Given the description of an element on the screen output the (x, y) to click on. 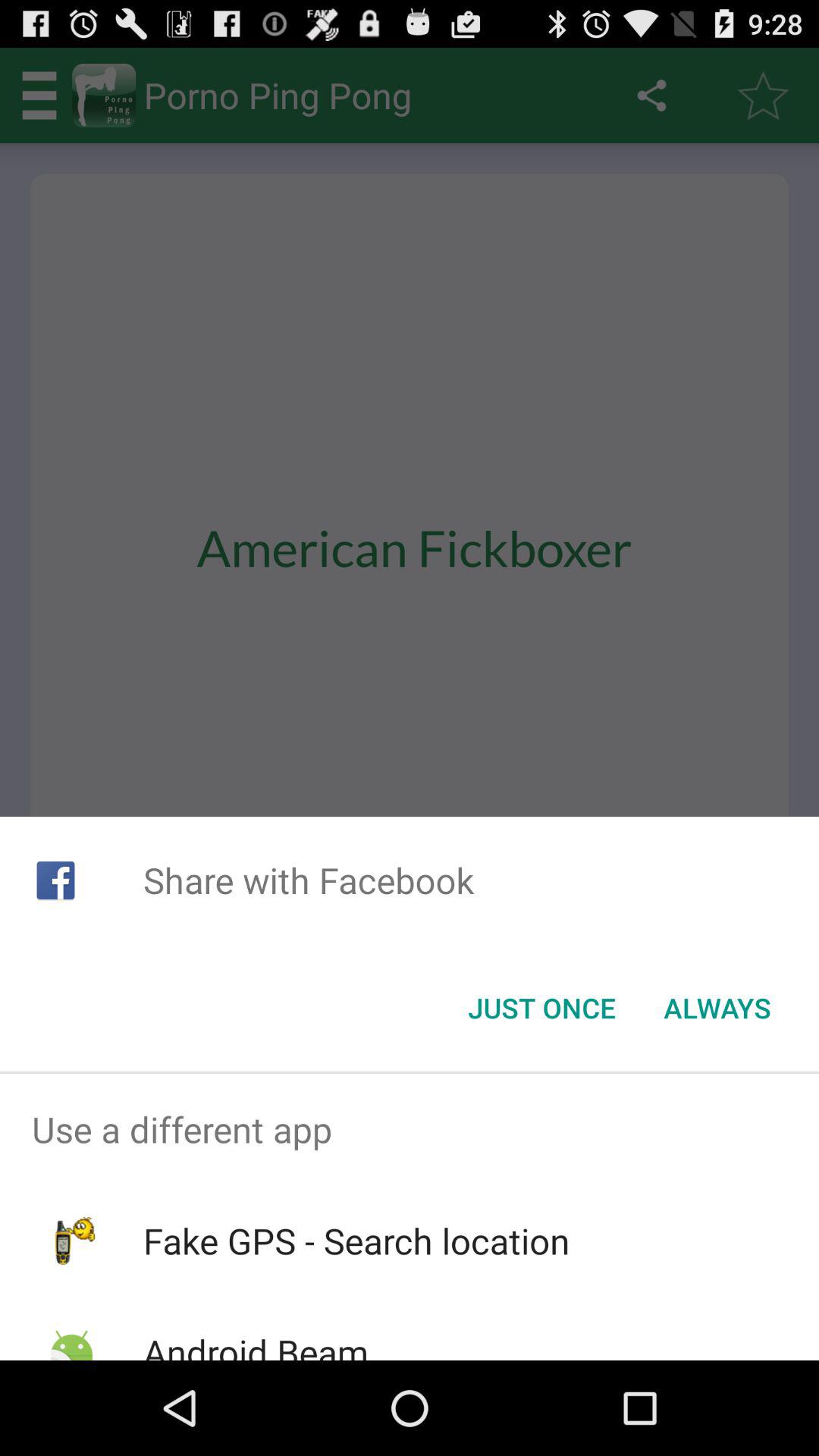
select the android beam item (255, 1344)
